Given the description of an element on the screen output the (x, y) to click on. 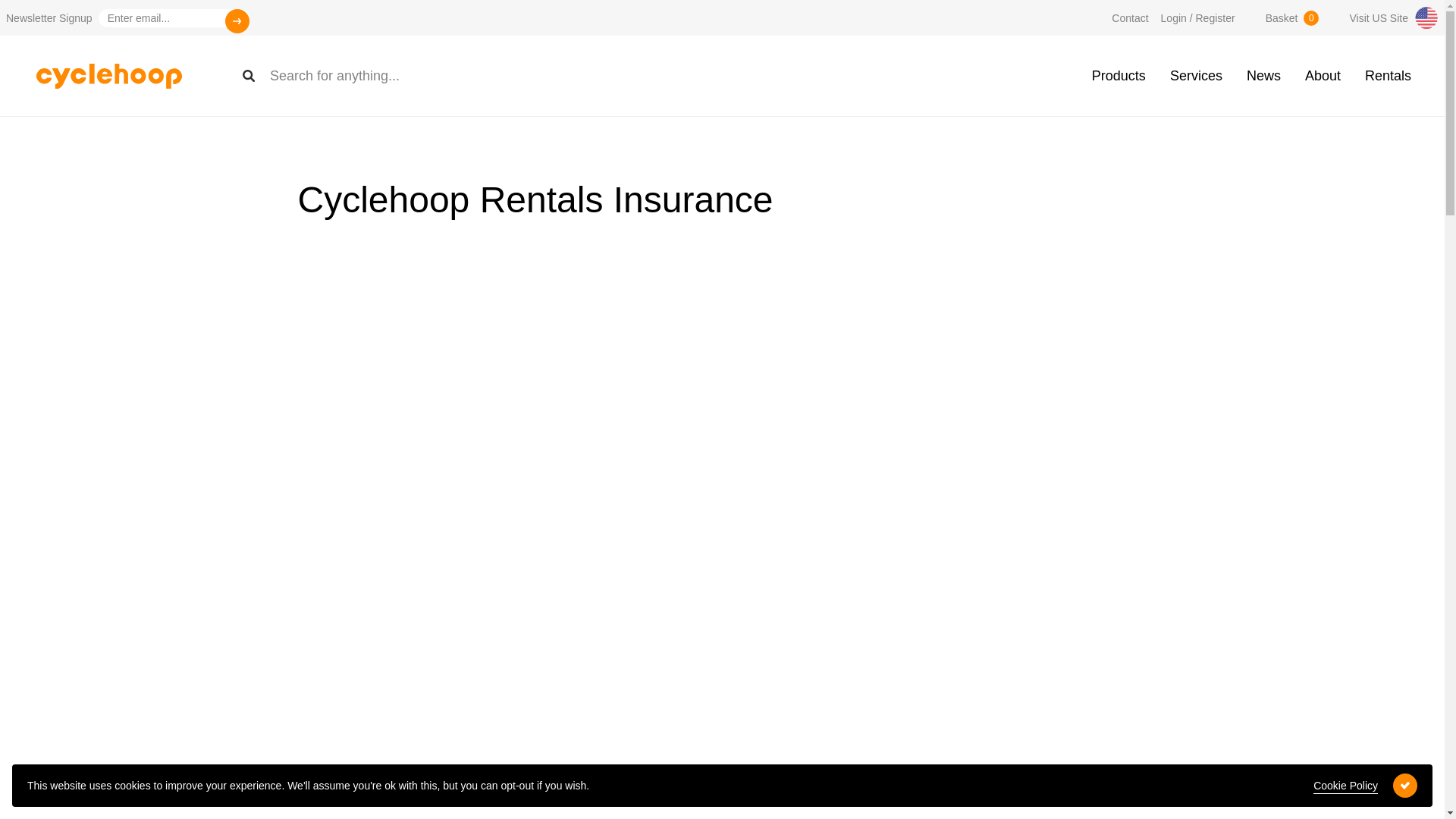
Products (1118, 75)
Services (1195, 75)
Rentals (1387, 75)
Contact (1123, 18)
About (1378, 17)
News (1276, 17)
